Given the description of an element on the screen output the (x, y) to click on. 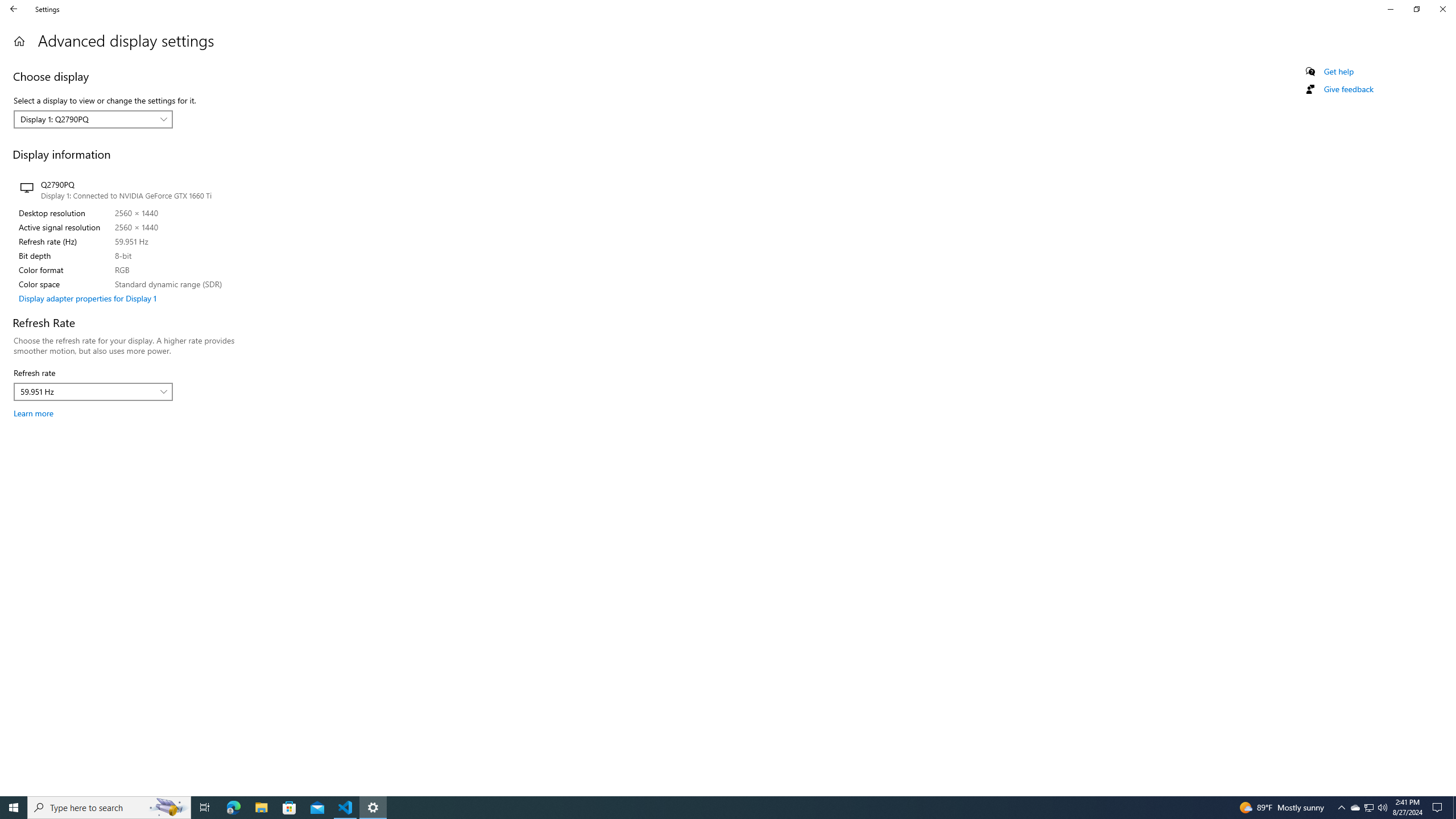
Start (13, 807)
Get help (1338, 71)
Close Settings (1442, 9)
Microsoft Store (289, 807)
Microsoft Edge (233, 807)
File Explorer (261, 807)
Restore Settings (1416, 9)
Show desktop (1454, 807)
Type here to search (108, 807)
Select a display to view or change the settings for it. (93, 119)
Action Center, No new notifications (1439, 807)
Running applications (1368, 807)
